Given the description of an element on the screen output the (x, y) to click on. 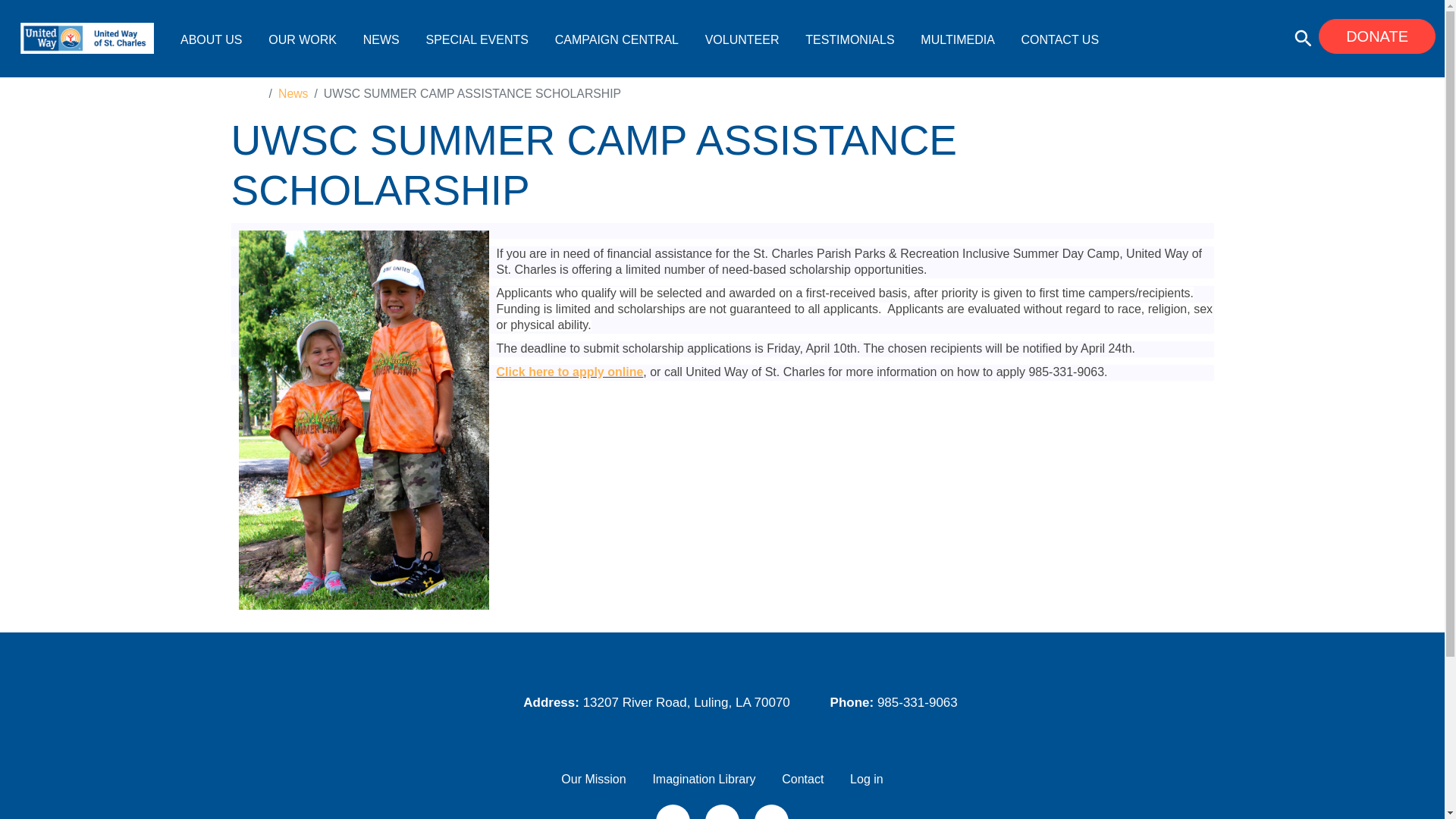
Search (804, 432)
UWSC News (381, 39)
Home (87, 38)
ABOUT US (211, 39)
VOLUNTEER (742, 39)
TESTIMONIALS (849, 39)
SPECIAL EVENTS (476, 39)
CAMPAIGN CENTRAL (616, 39)
OUR WORK (301, 39)
NEWS (381, 39)
